Given the description of an element on the screen output the (x, y) to click on. 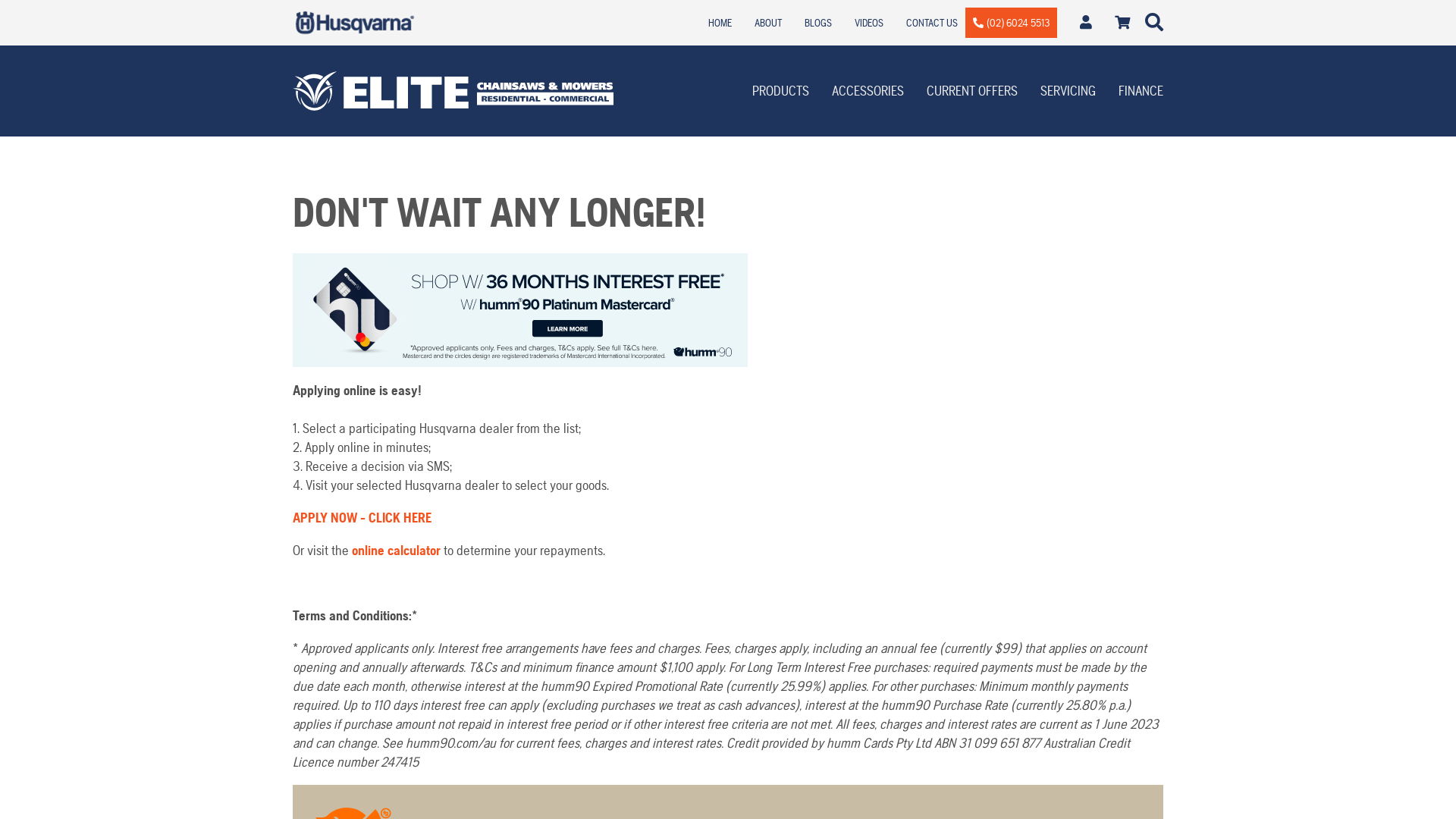
online calculator Element type: text (395, 550)
CONTACT US Element type: text (931, 22)
View Cart Element type: hover (1122, 21)
ABOUT Element type: text (767, 22)
HOME Element type: text (719, 22)
APPLY NOW - CLICK HERE Element type: text (361, 517)
SERVICING Element type: text (1067, 90)
My Account Element type: hover (1085, 21)
CURRENT OFFERS Element type: text (971, 90)
VIDEOS Element type: text (867, 22)
BLOGS Element type: text (817, 22)
FINANCE Element type: text (1140, 90)
(02) 6024 5513 Element type: text (1010, 22)
